Given the description of an element on the screen output the (x, y) to click on. 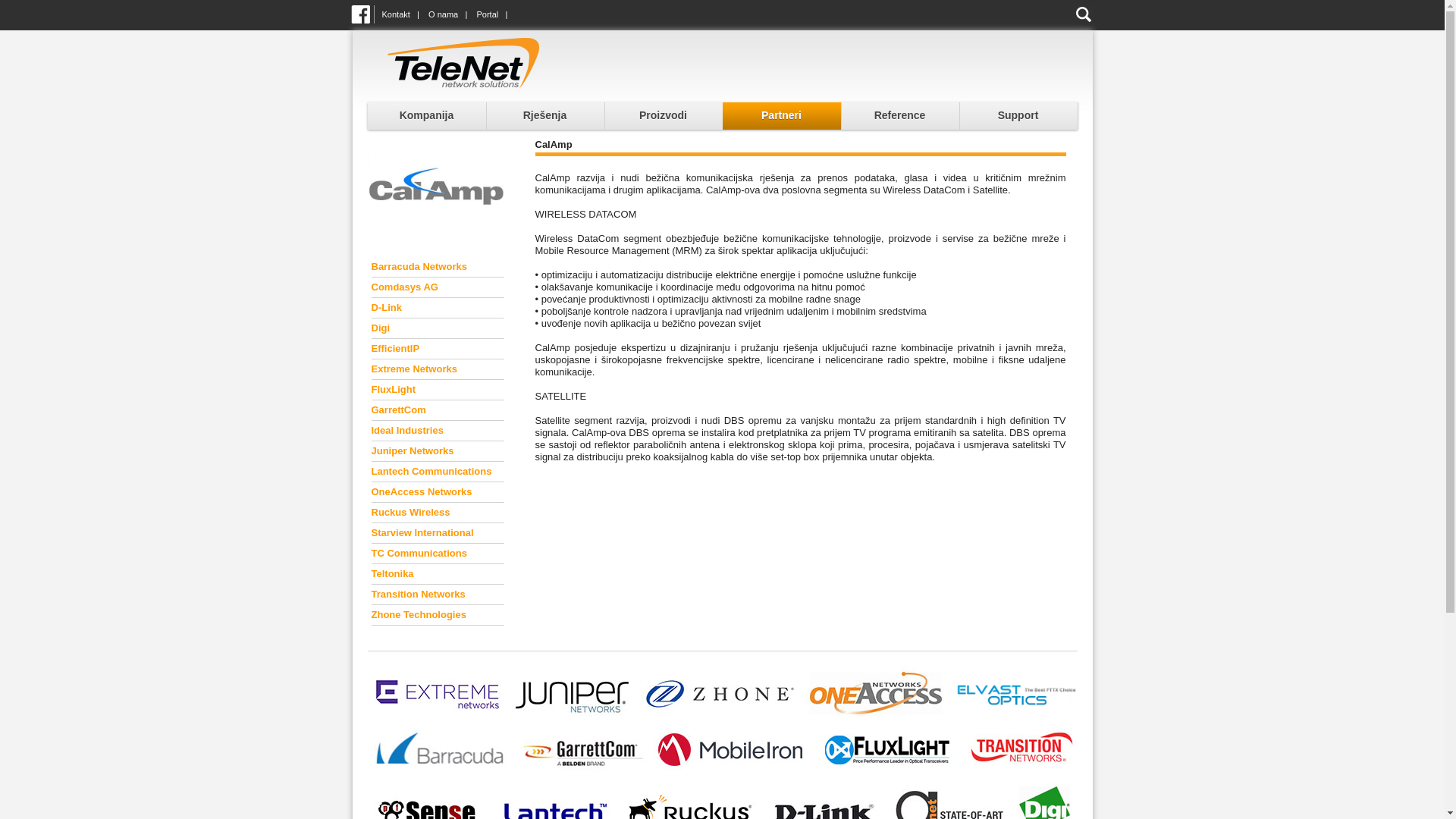
Barracuda Networks Element type: text (419, 266)
Portal Element type: text (487, 13)
Ideal Industries Element type: text (407, 430)
Reference Element type: text (899, 115)
O nama Element type: text (443, 13)
Partneri Element type: text (780, 115)
Comdasys AG Element type: text (404, 286)
Starview International Element type: text (422, 532)
GarrettCom Element type: text (398, 409)
Teltonika Element type: text (392, 573)
Lantech Communications Element type: text (431, 470)
Kompanija Element type: text (426, 115)
OneAccess Networks Element type: text (421, 491)
Support Element type: text (1017, 115)
TC Communications Element type: text (419, 552)
Kontakt Element type: text (396, 13)
FluxLight Element type: text (393, 389)
Juniper Networks Element type: text (412, 450)
Transition Networks Element type: text (418, 593)
D-Link Element type: text (386, 307)
Ruckus Wireless Element type: text (410, 511)
Extreme Networks Element type: text (414, 368)
Zhone Technologies Element type: text (418, 614)
EfficientIP Element type: text (395, 348)
Digi Element type: text (380, 327)
Proizvodi Element type: text (662, 115)
